Given the description of an element on the screen output the (x, y) to click on. 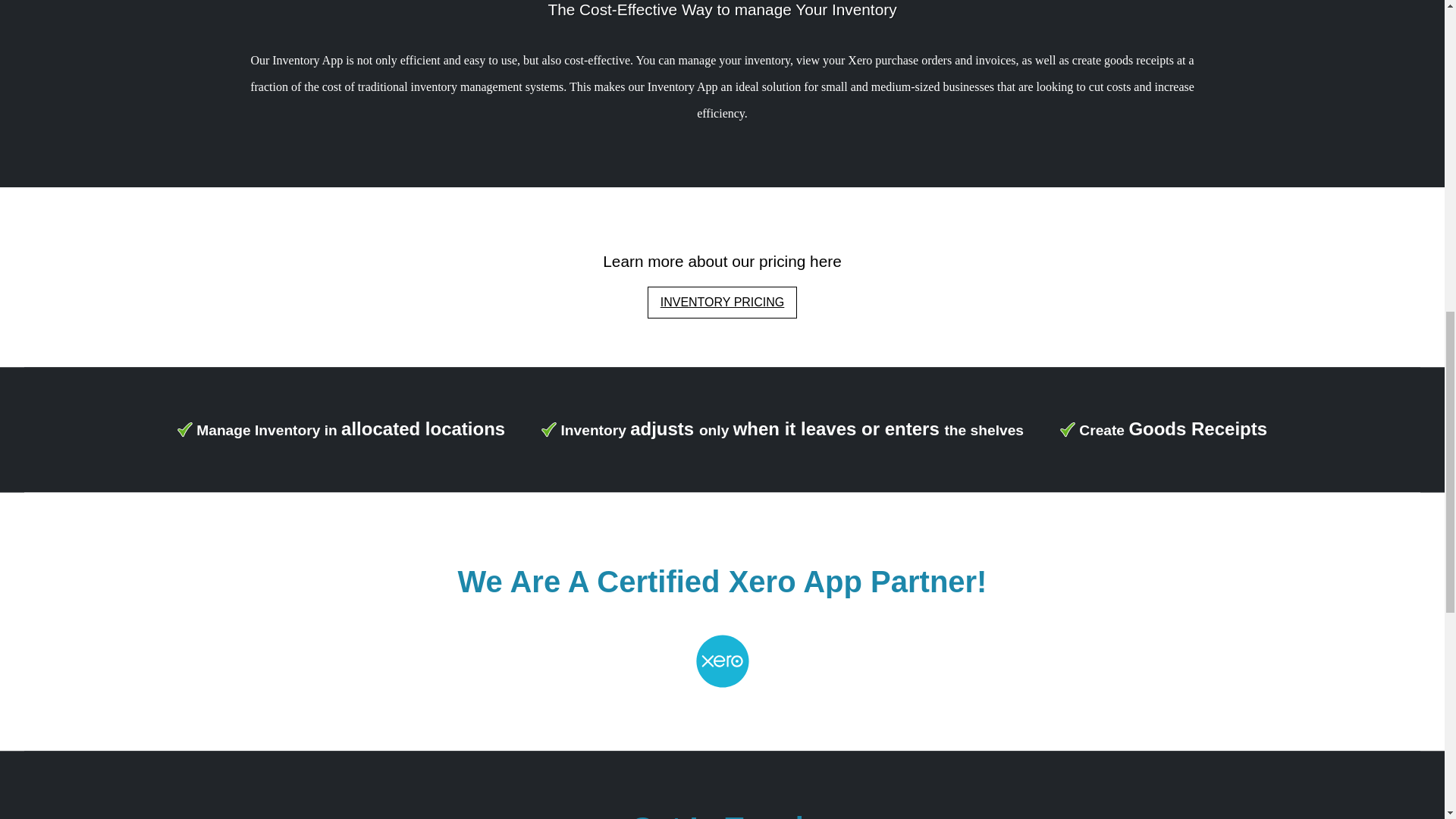
INVENTORY PRICING (722, 302)
